Given the description of an element on the screen output the (x, y) to click on. 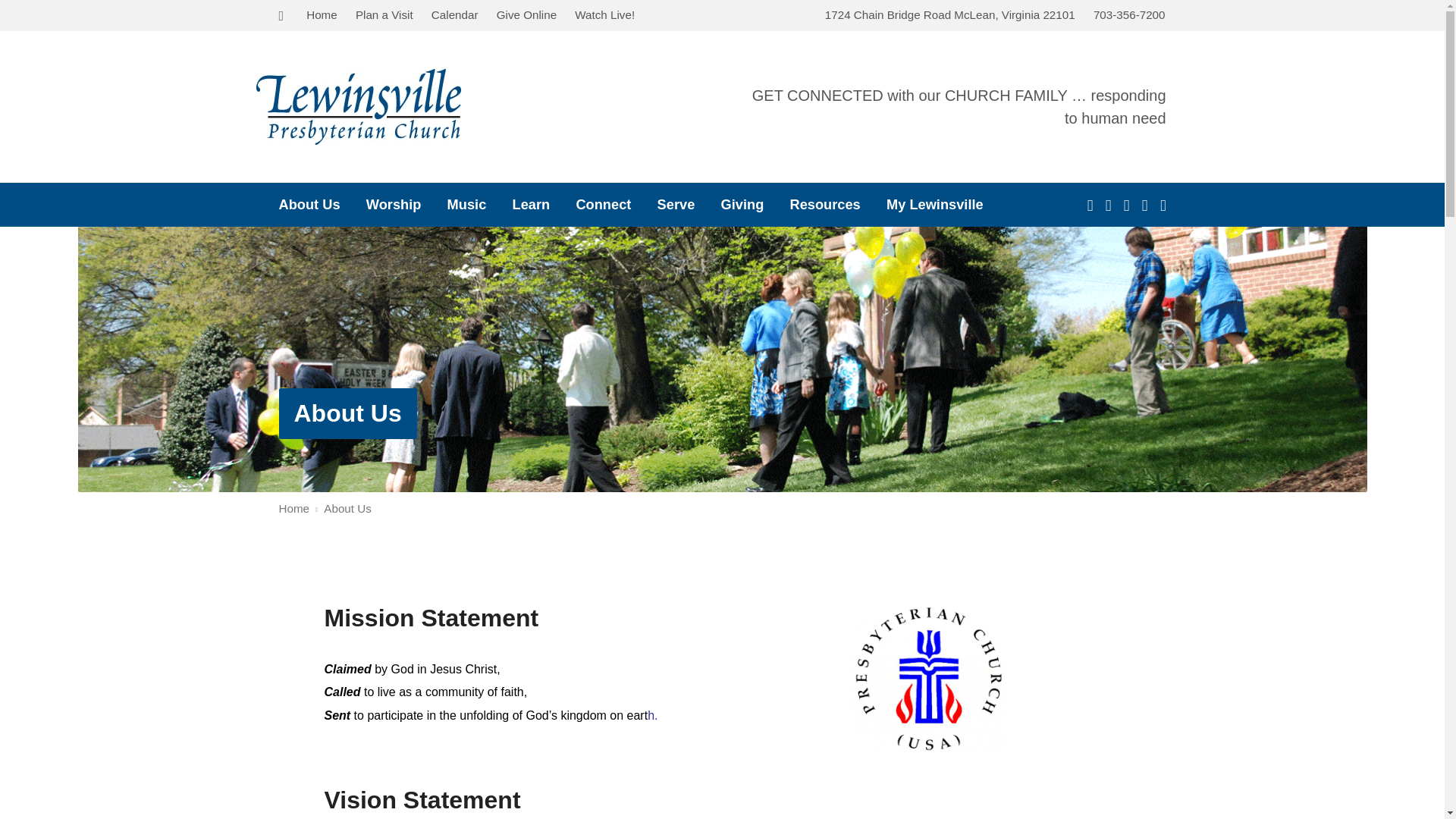
Watch Live! (604, 14)
Calendar (454, 14)
Give Online (526, 14)
Music (466, 204)
1724 Chain Bridge Road McLean, Virginia 22101 (950, 14)
About Us (347, 412)
Worship (394, 204)
703-356-7200 (1129, 14)
PCUSA (928, 676)
Plan a Visit (384, 14)
